Given the description of an element on the screen output the (x, y) to click on. 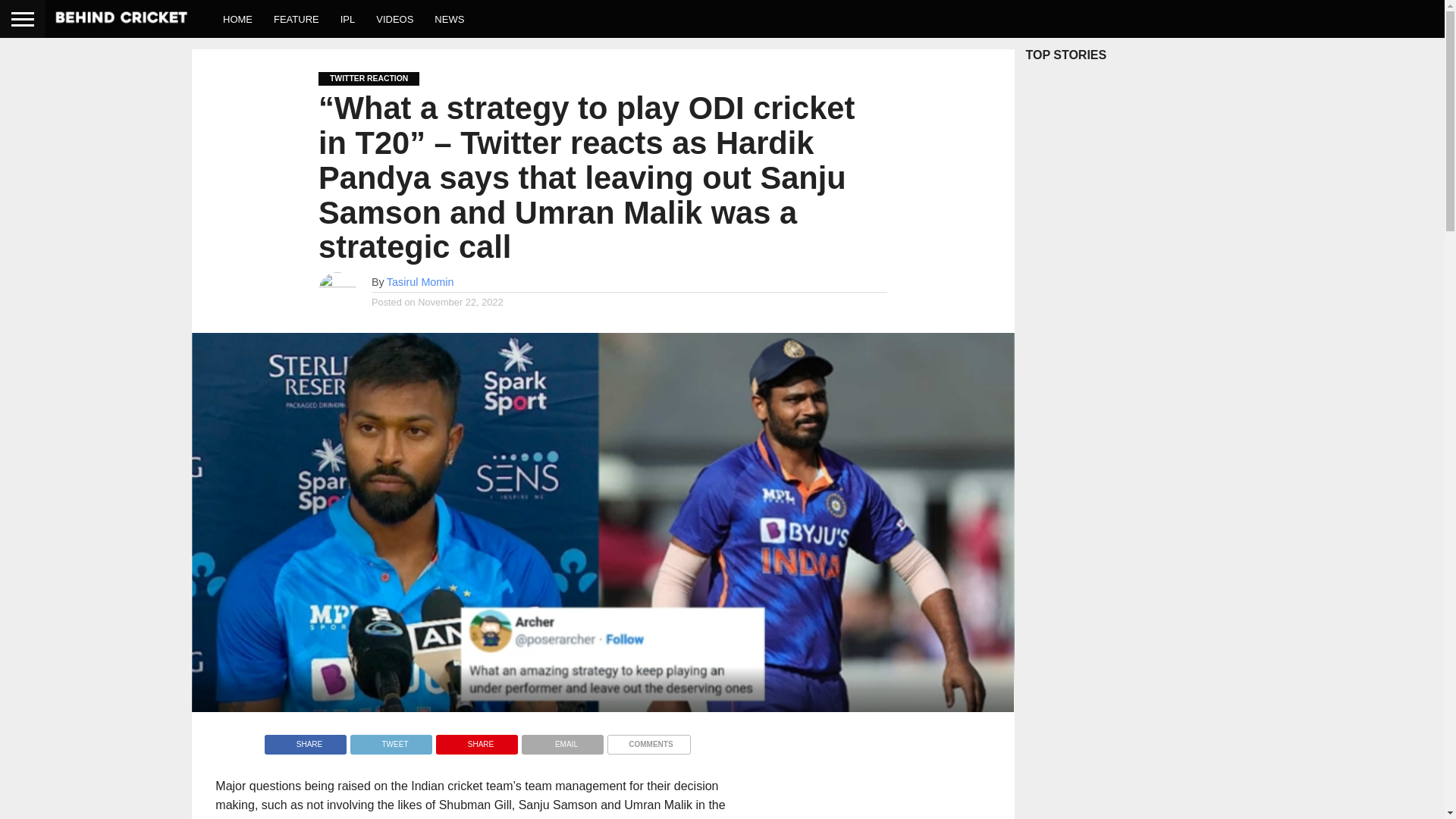
Pin This Post (476, 739)
Posts by Tasirul Momin (420, 282)
EMAIL (562, 739)
IPL (348, 18)
HOME (237, 18)
Tasirul Momin (420, 282)
Tweet This Post (390, 739)
TWEET (390, 739)
COMMENTS (648, 739)
SHARE (305, 739)
Share on Facebook (305, 739)
SHARE (476, 739)
NEWS (448, 18)
VIDEOS (394, 18)
FEATURE (296, 18)
